Given the description of an element on the screen output the (x, y) to click on. 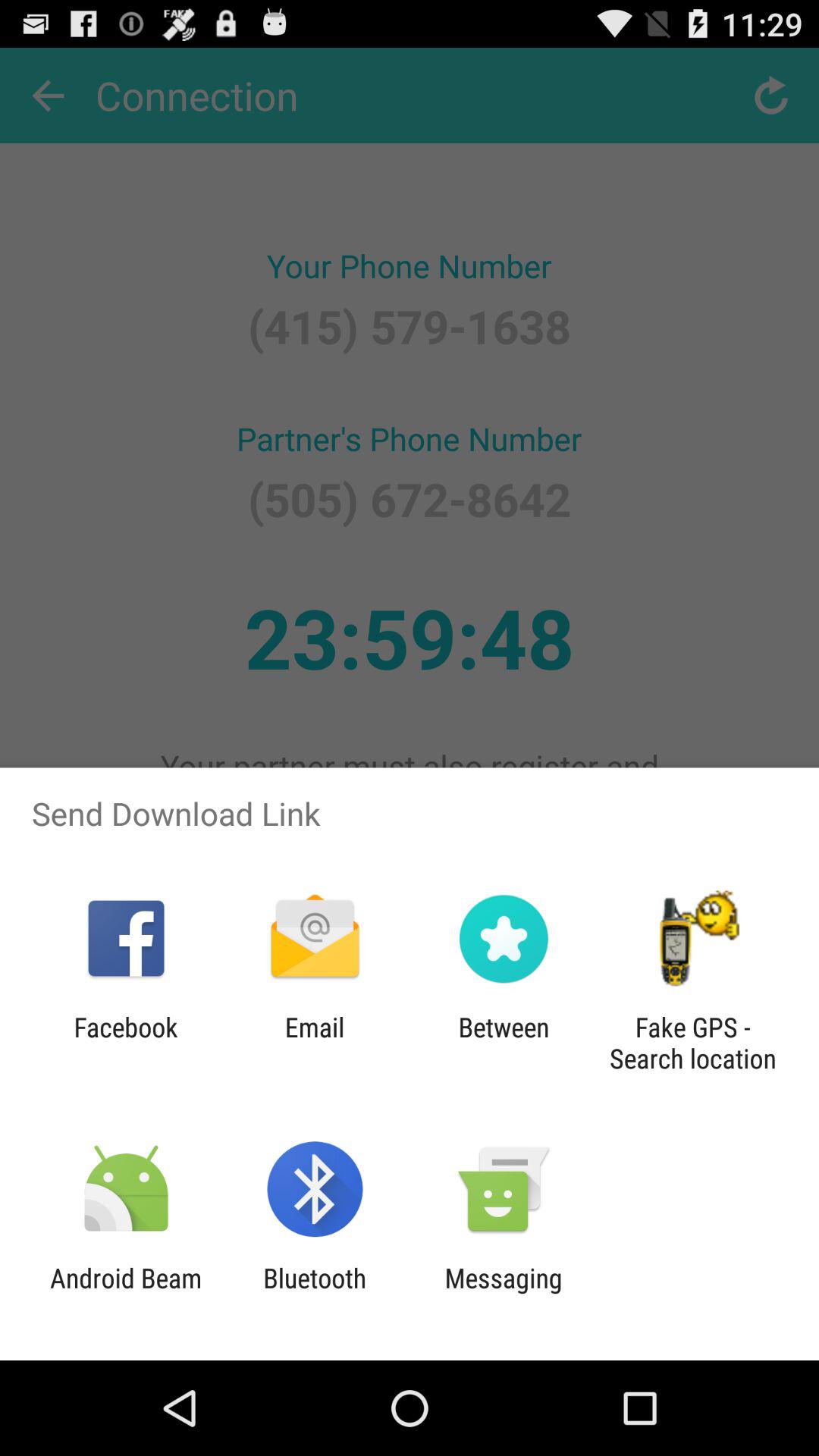
turn off the icon to the left of fake gps search (503, 1042)
